Given the description of an element on the screen output the (x, y) to click on. 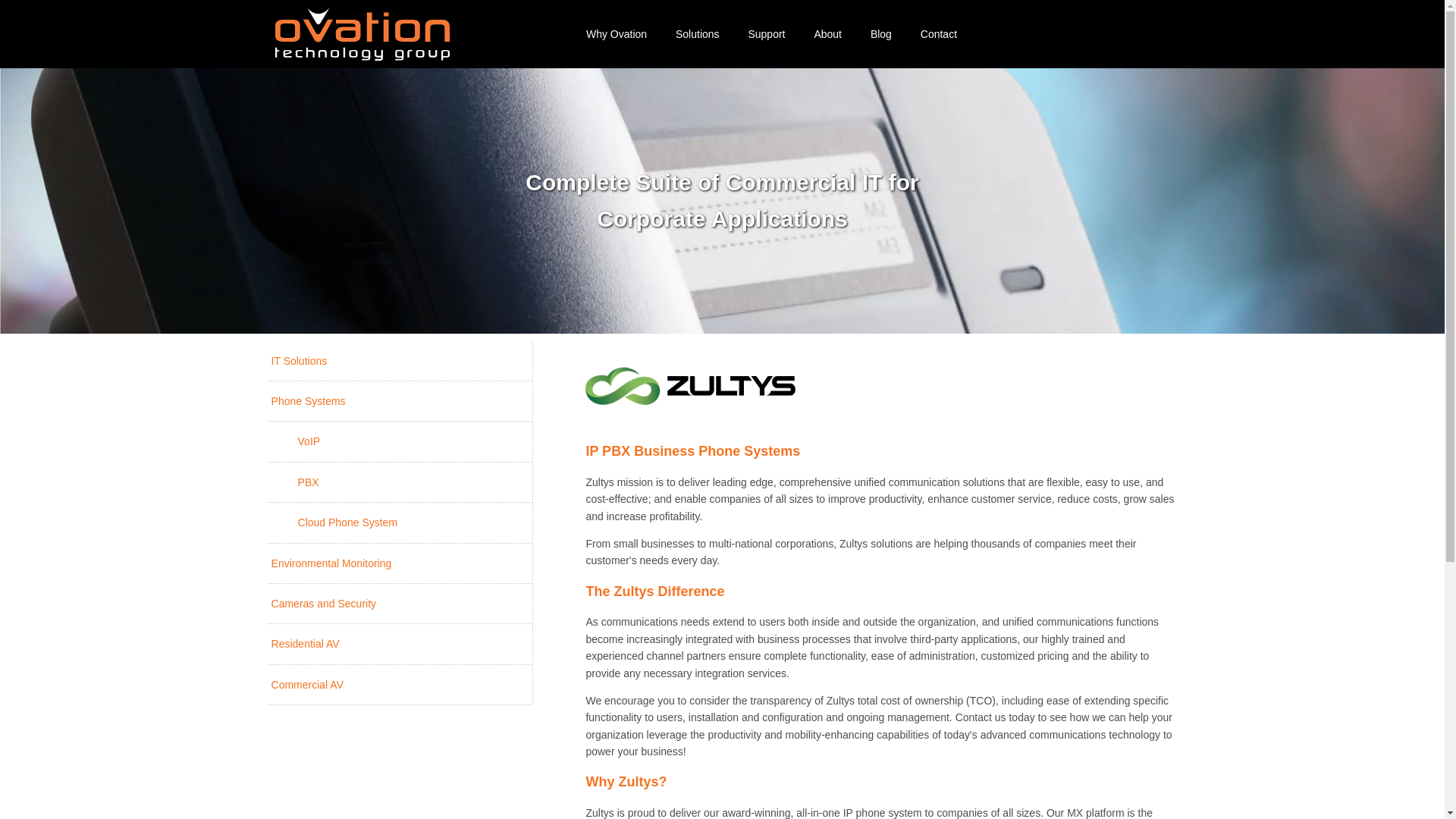
Environmental Monitoring (399, 562)
Blog (881, 33)
Support (765, 33)
Phone Systems (399, 401)
Solutions (697, 33)
Commercial AV (399, 685)
Contact (938, 33)
Why Ovation (616, 33)
VoIP (399, 441)
IT Solutions (399, 361)
